Given the description of an element on the screen output the (x, y) to click on. 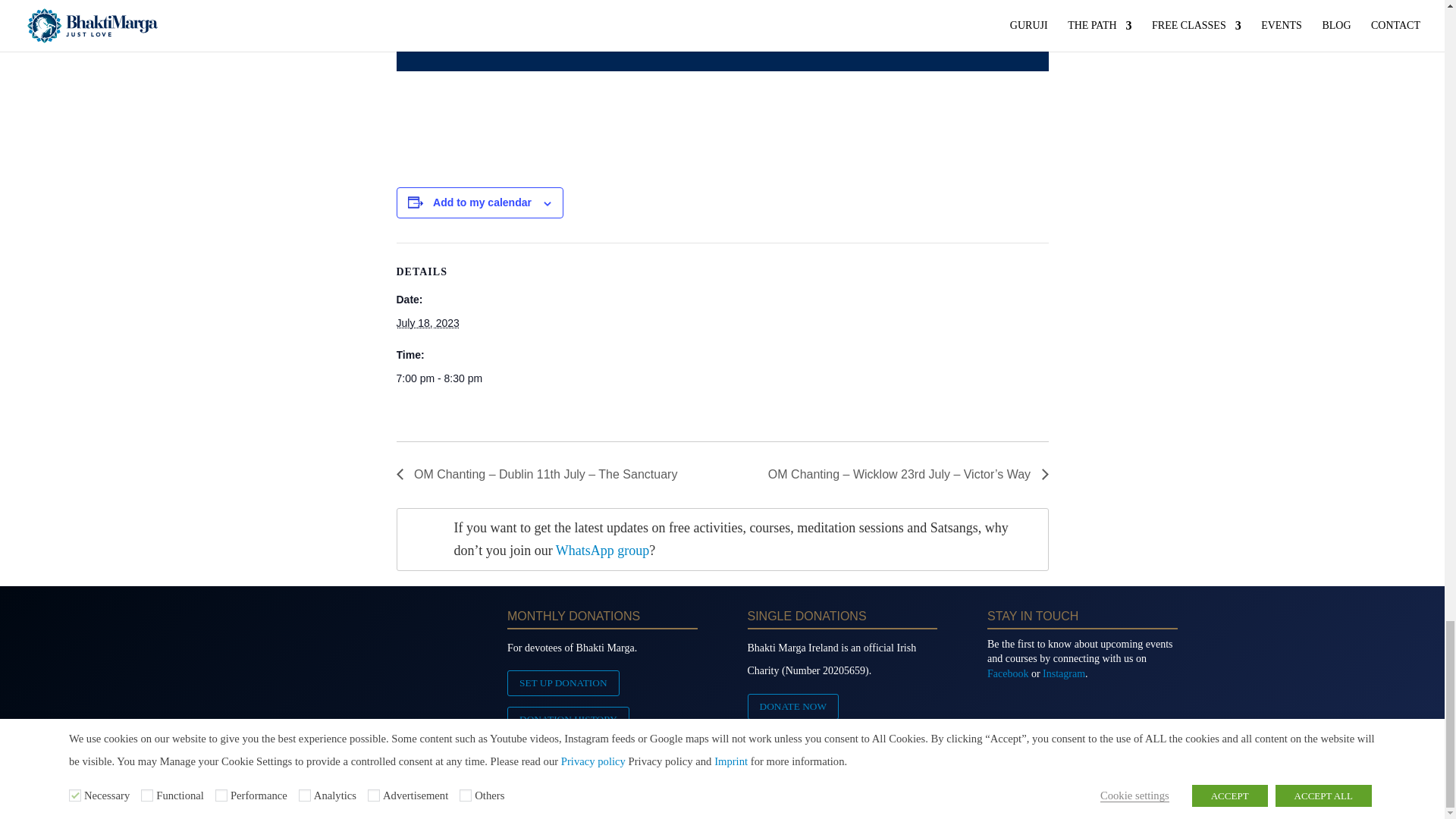
Add to my calendar (481, 202)
2023-07-18 (459, 378)
2023-07-18 (427, 322)
